Given the description of an element on the screen output the (x, y) to click on. 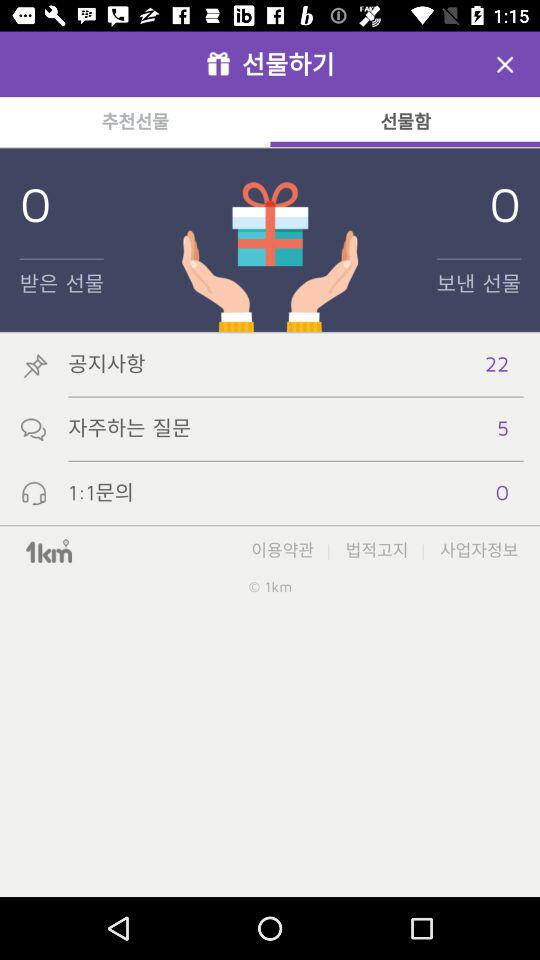
close app (505, 64)
